Given the description of an element on the screen output the (x, y) to click on. 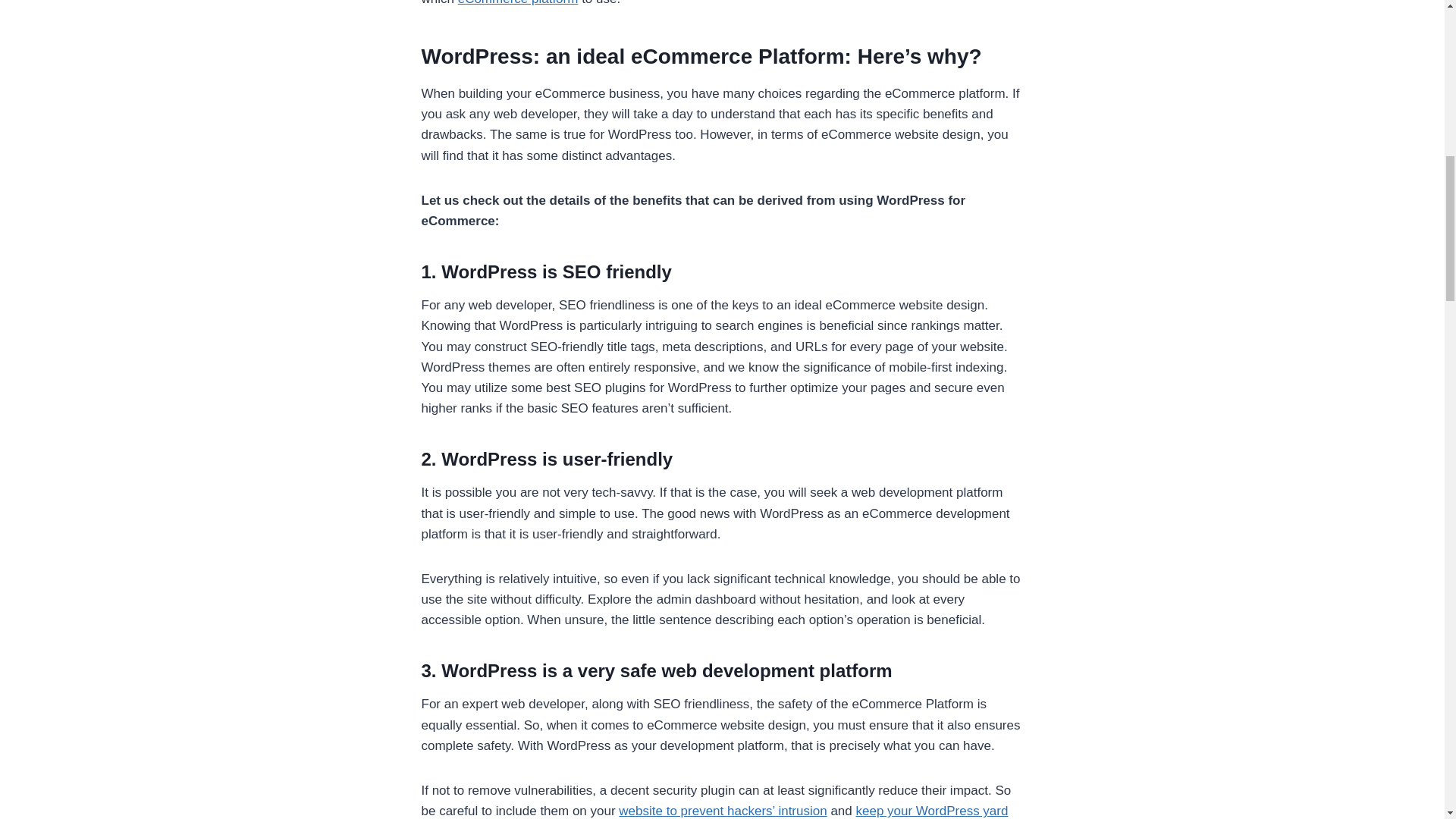
keep your WordPress yard secure (715, 811)
eCommerce platform (518, 2)
